Given the description of an element on the screen output the (x, y) to click on. 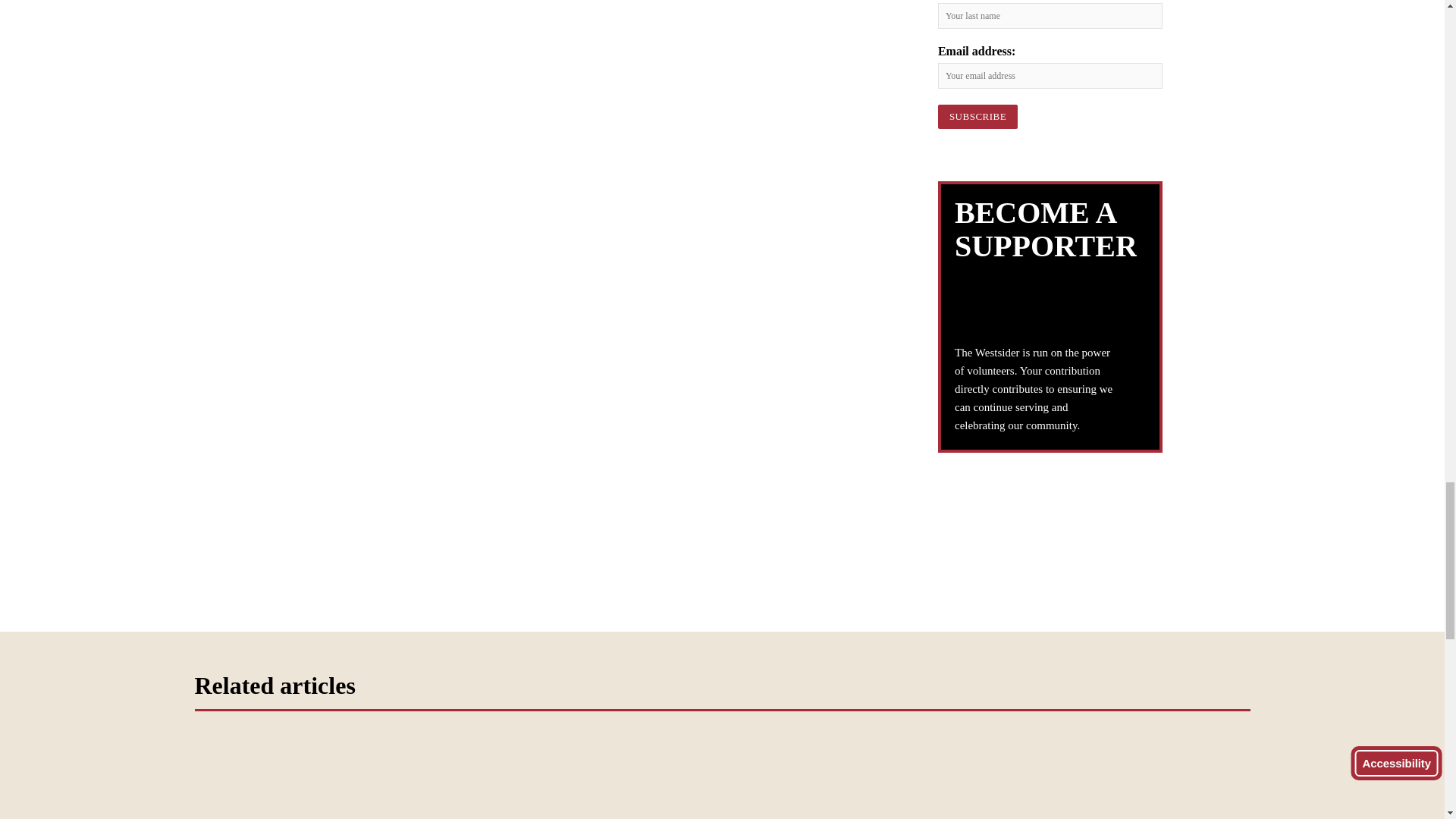
Subscribe (977, 116)
